Given the description of an element on the screen output the (x, y) to click on. 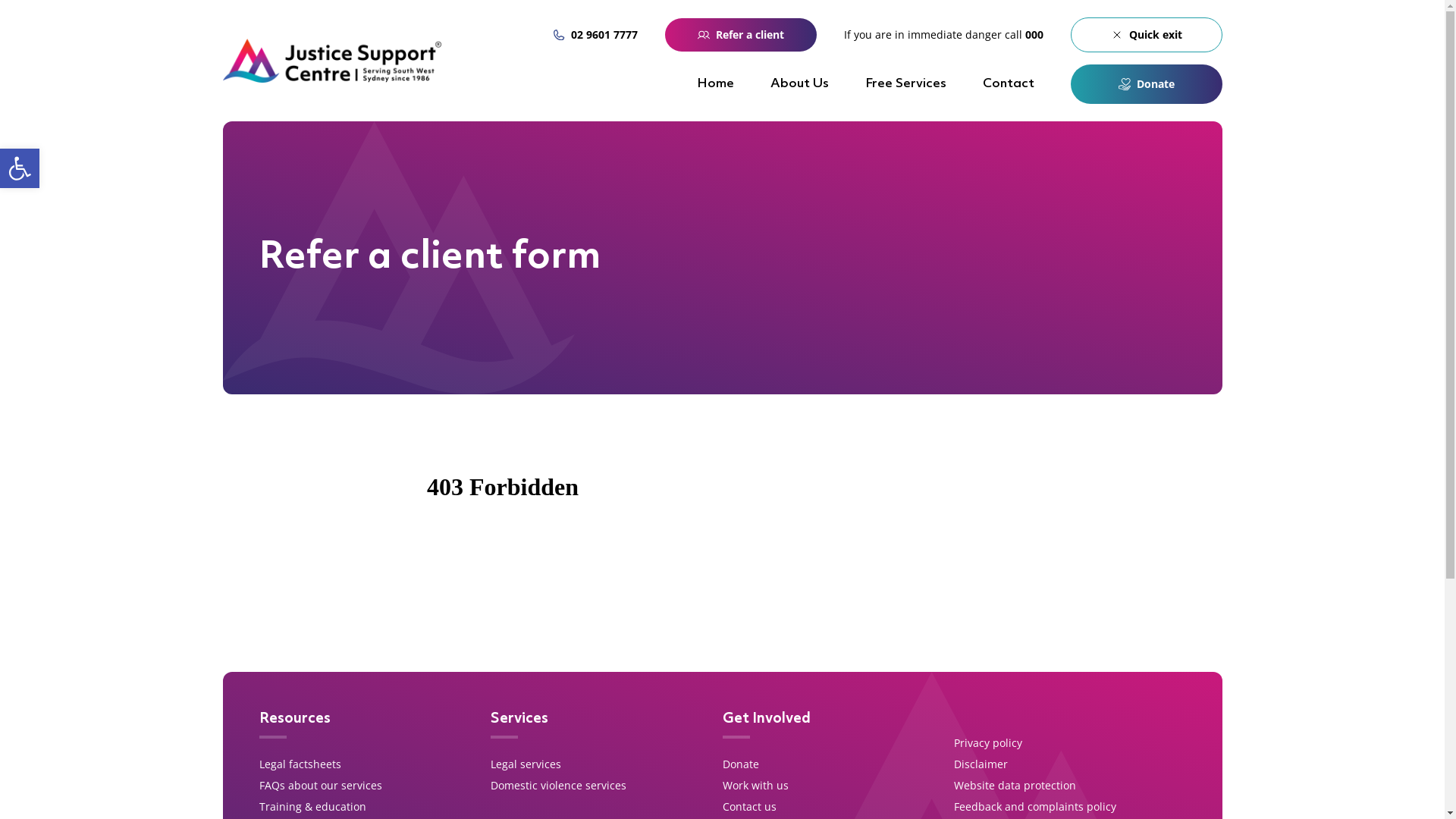
Contact us Element type: text (748, 806)
Legal factsheets Element type: text (300, 763)
Training & education Element type: text (312, 806)
Feedback and complaints policy Element type: text (1034, 806)
Work with us Element type: text (754, 785)
Free Services Element type: text (904, 83)
000 Element type: text (1034, 34)
Quick exit Element type: text (1146, 34)
Domestic violence services Element type: text (558, 785)
Disclaimer Element type: text (980, 763)
Contact Element type: text (1008, 83)
FAQs about our services Element type: text (320, 785)
Donate Element type: text (1146, 83)
Home Element type: text (714, 83)
Donate Element type: text (739, 763)
Refer a client Element type: text (739, 34)
Refer a client Element type: text (963, 39)
02 9601 7777 Element type: text (595, 34)
Privacy policy Element type: text (987, 742)
Open toolbar Element type: text (19, 168)
About Us Element type: text (799, 83)
Website data protection Element type: text (1014, 785)
Legal services Element type: text (525, 763)
Donate Element type: text (1146, 39)
